Given the description of an element on the screen output the (x, y) to click on. 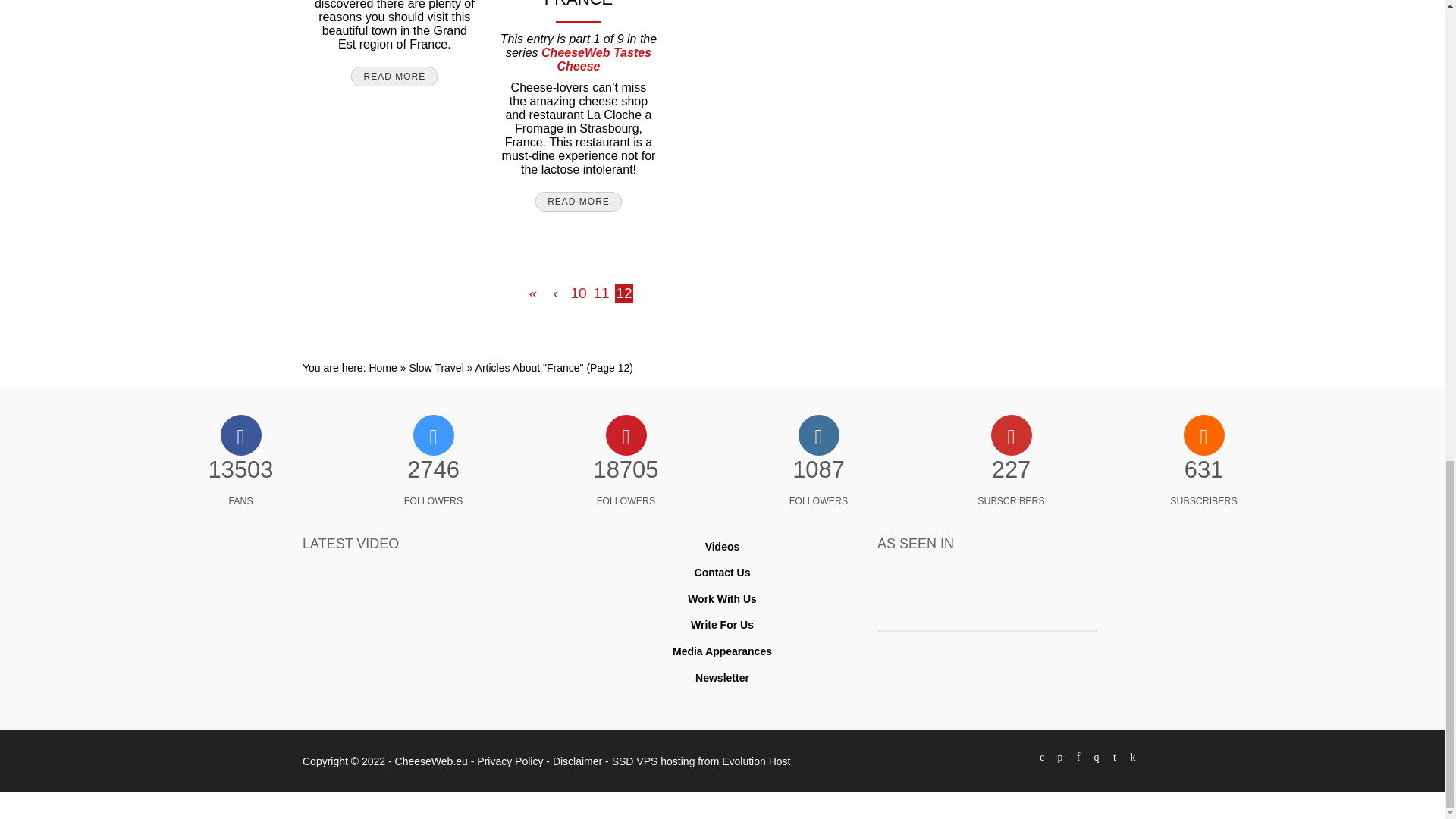
Go to Slow Travel (436, 367)
Contact Us (722, 572)
Videos (721, 546)
Home (382, 367)
CheeseWeb Tastes Cheese (595, 58)
